Given the description of an element on the screen output the (x, y) to click on. 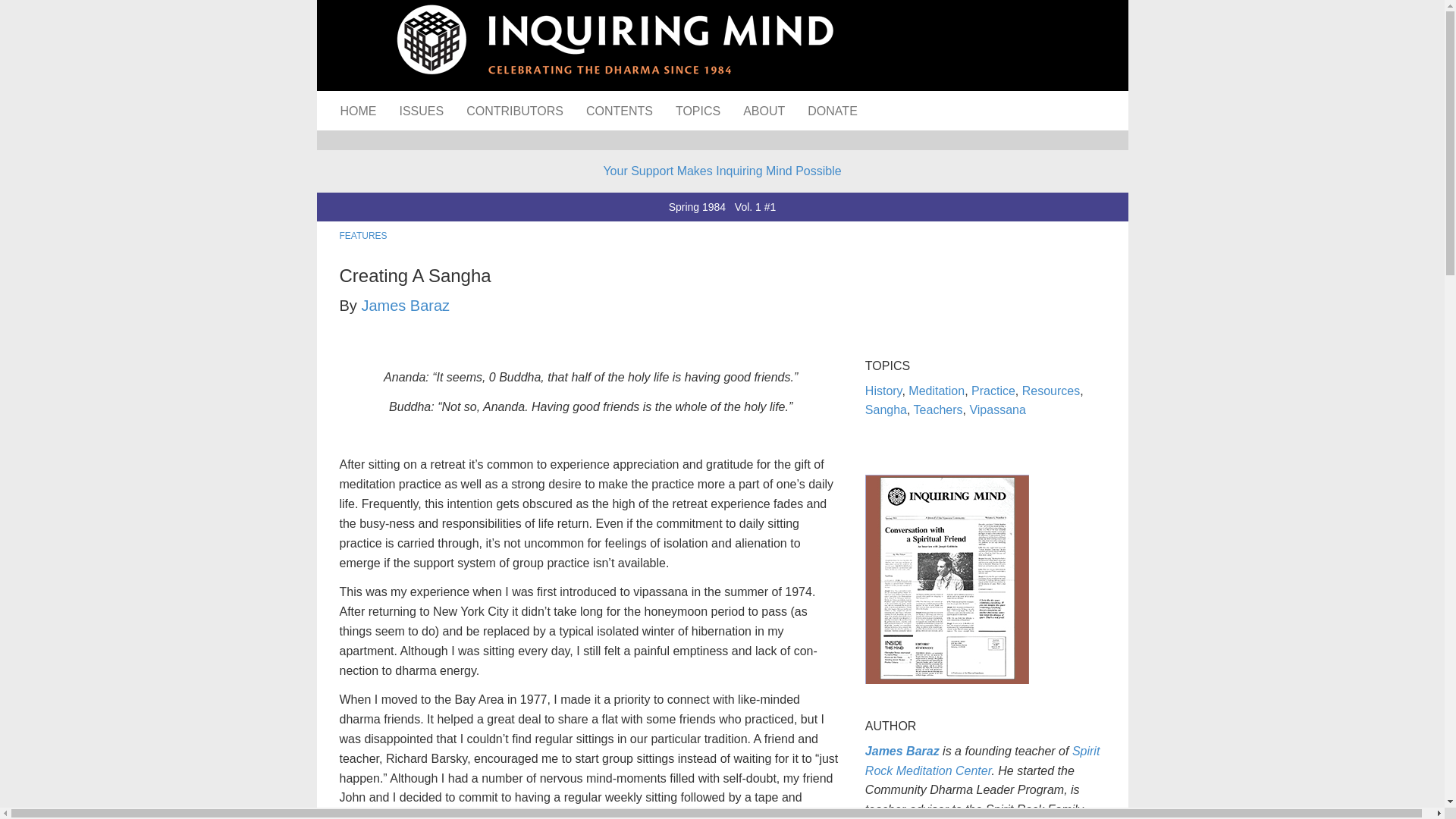
James Baraz (405, 305)
HOME (358, 110)
CONTENTS (619, 110)
Your Support Makes Inquiring Mind Possible (721, 170)
Page 1 (591, 754)
CONTRIBUTORS (514, 110)
Resources (1051, 390)
History (883, 390)
Teachers (938, 409)
FEATURES (363, 235)
Practice (992, 390)
ABOUT (764, 110)
Sangha (885, 409)
James Baraz (901, 750)
